Given the description of an element on the screen output the (x, y) to click on. 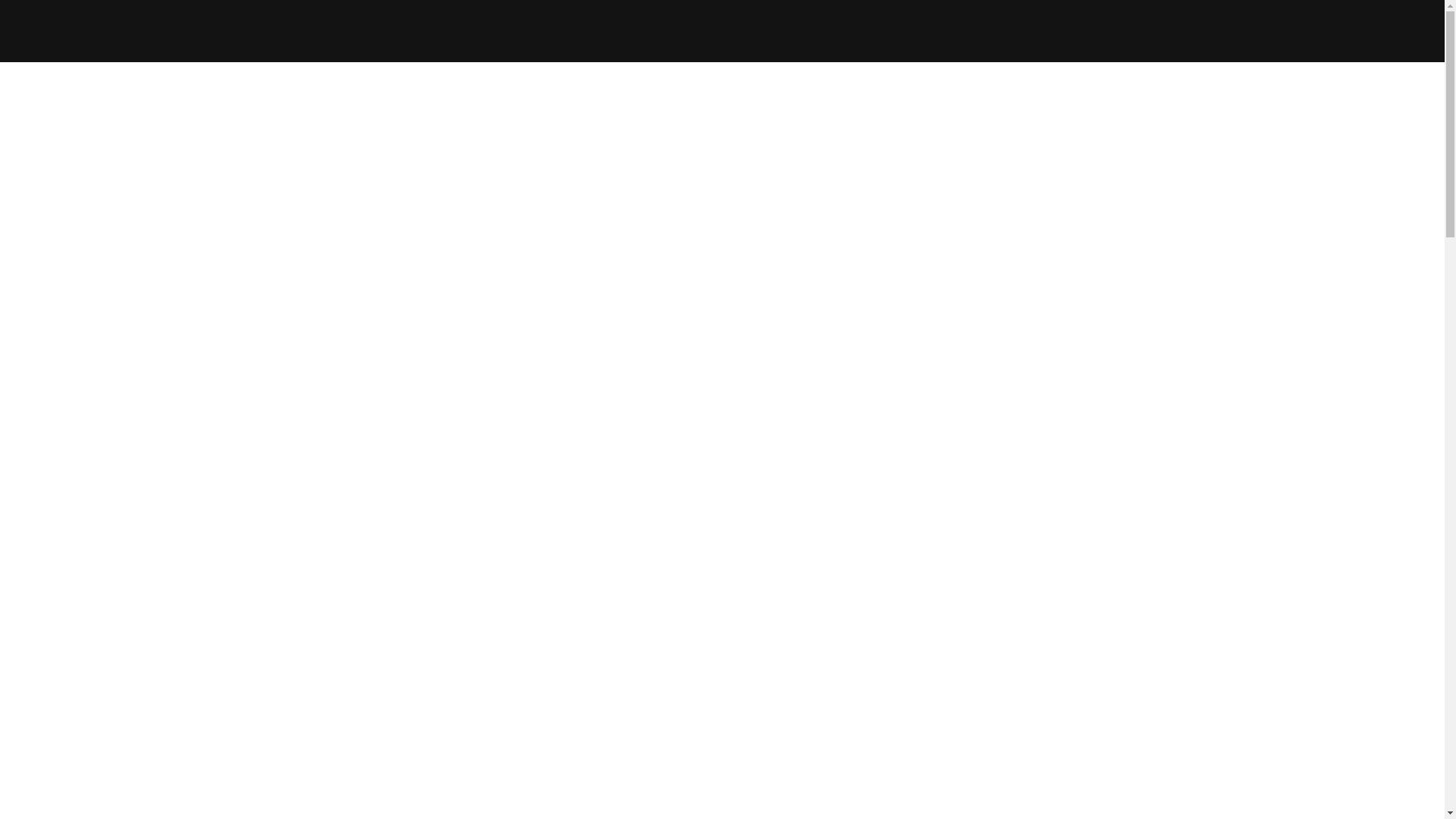
Wine Clubs (717, 45)
Shop (659, 45)
Articles (780, 45)
